Given the description of an element on the screen output the (x, y) to click on. 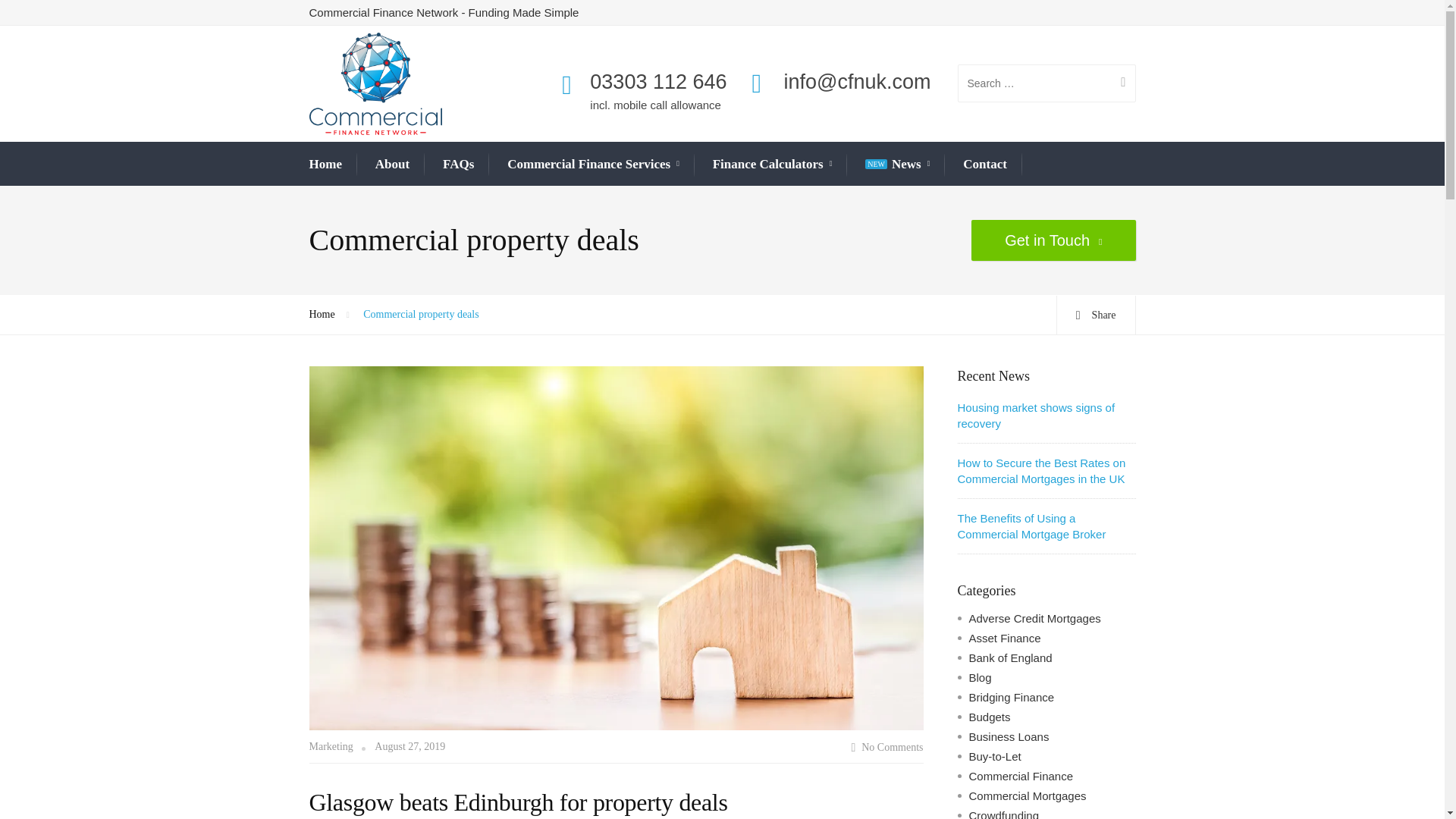
Search (1117, 83)
Home (325, 163)
Finance Calculators (772, 164)
About (392, 163)
03303 112 646 (657, 81)
Commercial Finance Services (592, 164)
Contact (984, 163)
NEWNews (897, 164)
Glasgow beats Edinburgh for property deals (615, 547)
FAQs (458, 163)
Search (1117, 83)
Search (1117, 83)
